Given the description of an element on the screen output the (x, y) to click on. 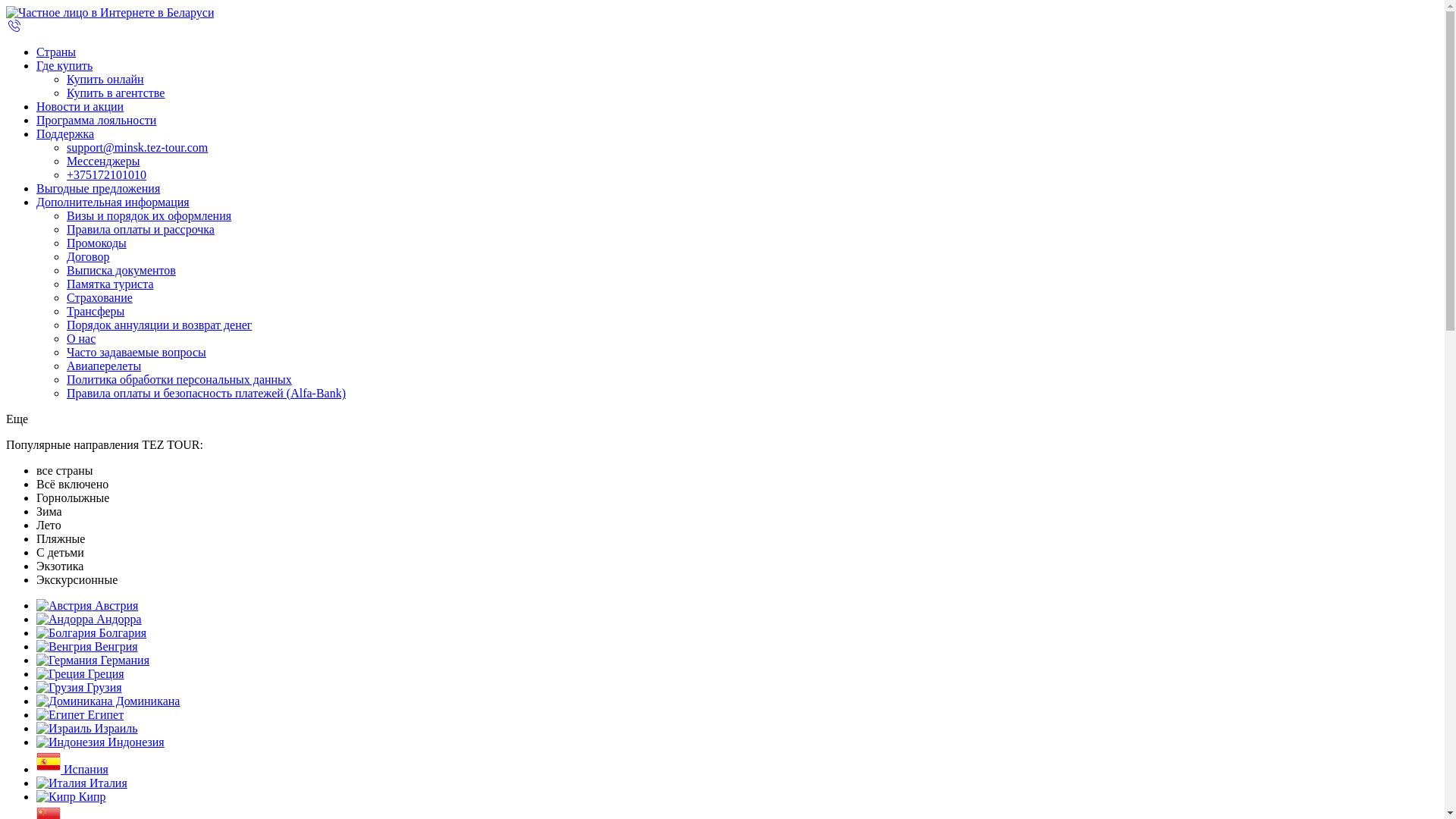
+375172101010 Element type: text (106, 174)
support@minsk.tez-tour.com Element type: text (136, 147)
